Given the description of an element on the screen output the (x, y) to click on. 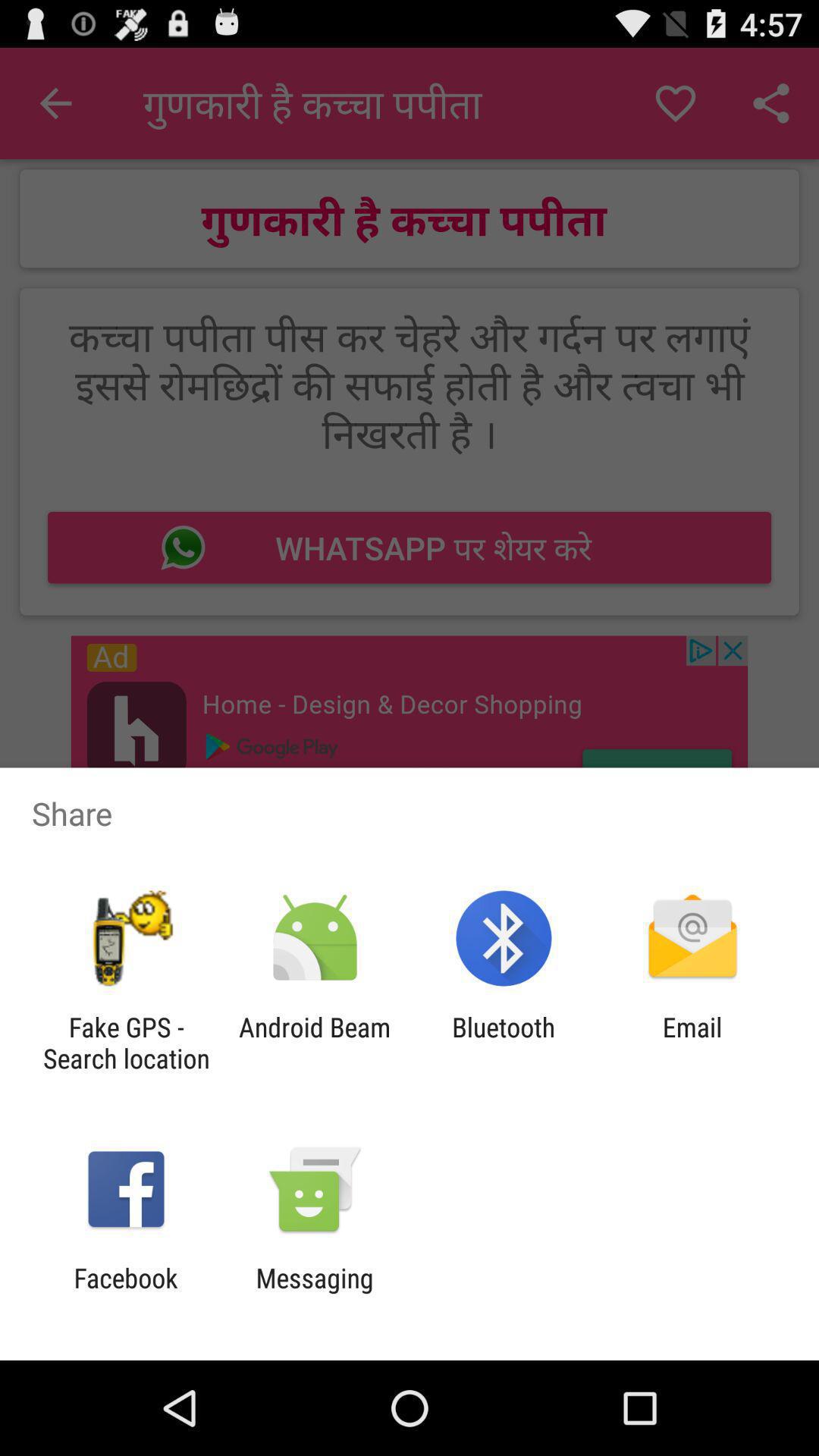
tap app to the right of the facebook icon (314, 1293)
